Given the description of an element on the screen output the (x, y) to click on. 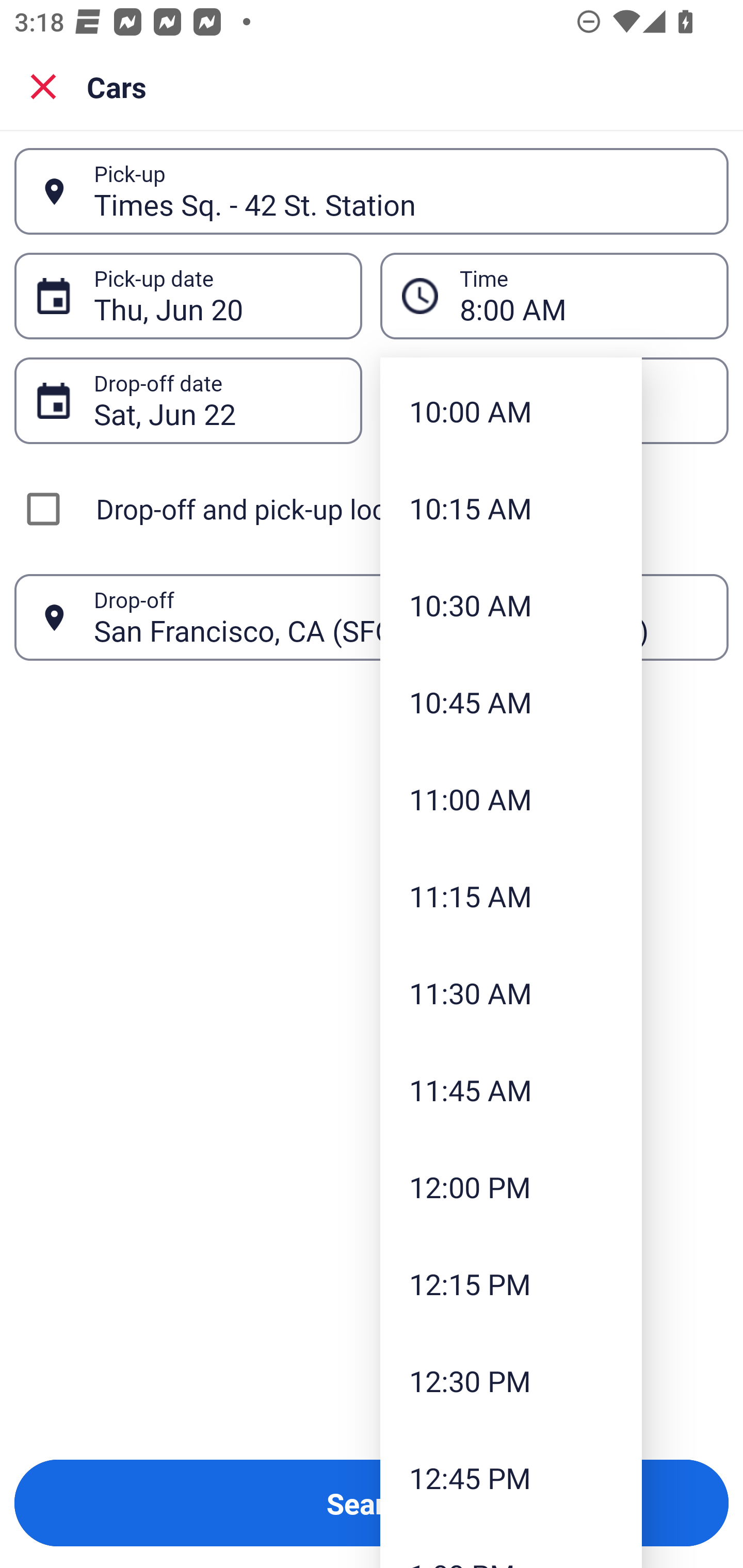
10:00 AM (510, 410)
10:15 AM (510, 507)
10:30 AM (510, 604)
10:45 AM (510, 702)
11:00 AM (510, 798)
11:15 AM (510, 894)
11:30 AM (510, 992)
11:45 AM (510, 1089)
12:00 PM (510, 1186)
12:15 PM (510, 1283)
12:30 PM (510, 1381)
12:45 PM (510, 1477)
